Given the description of an element on the screen output the (x, y) to click on. 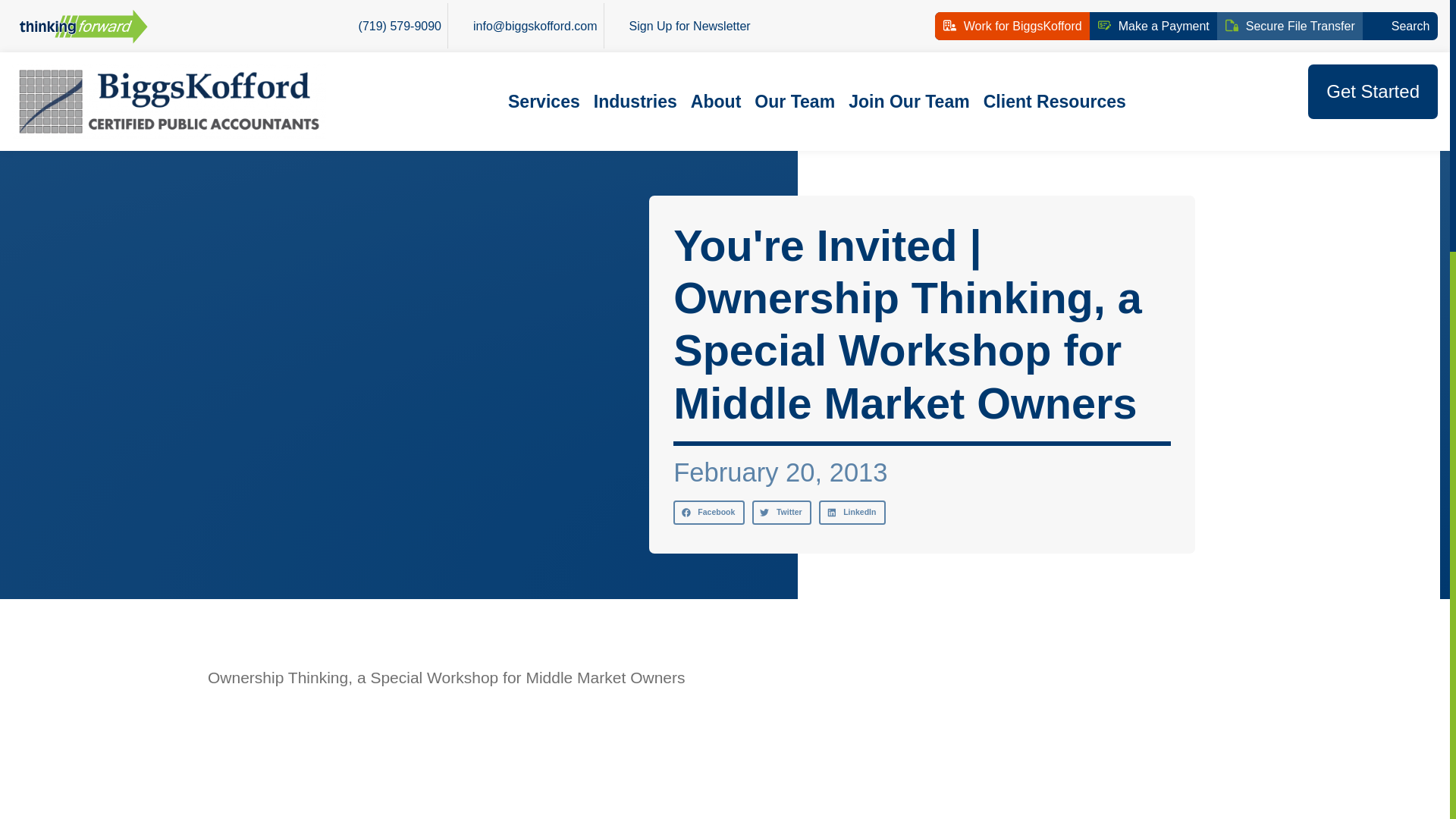
About (715, 101)
Secure File Transfer (1290, 26)
Our Team (794, 101)
Sign Up for Newsletter (680, 26)
Client Resources (1054, 101)
Industries (635, 101)
Services (543, 101)
Work for BiggsKofford (1012, 26)
Search (1400, 26)
Make a Payment (1153, 26)
